Given the description of an element on the screen output the (x, y) to click on. 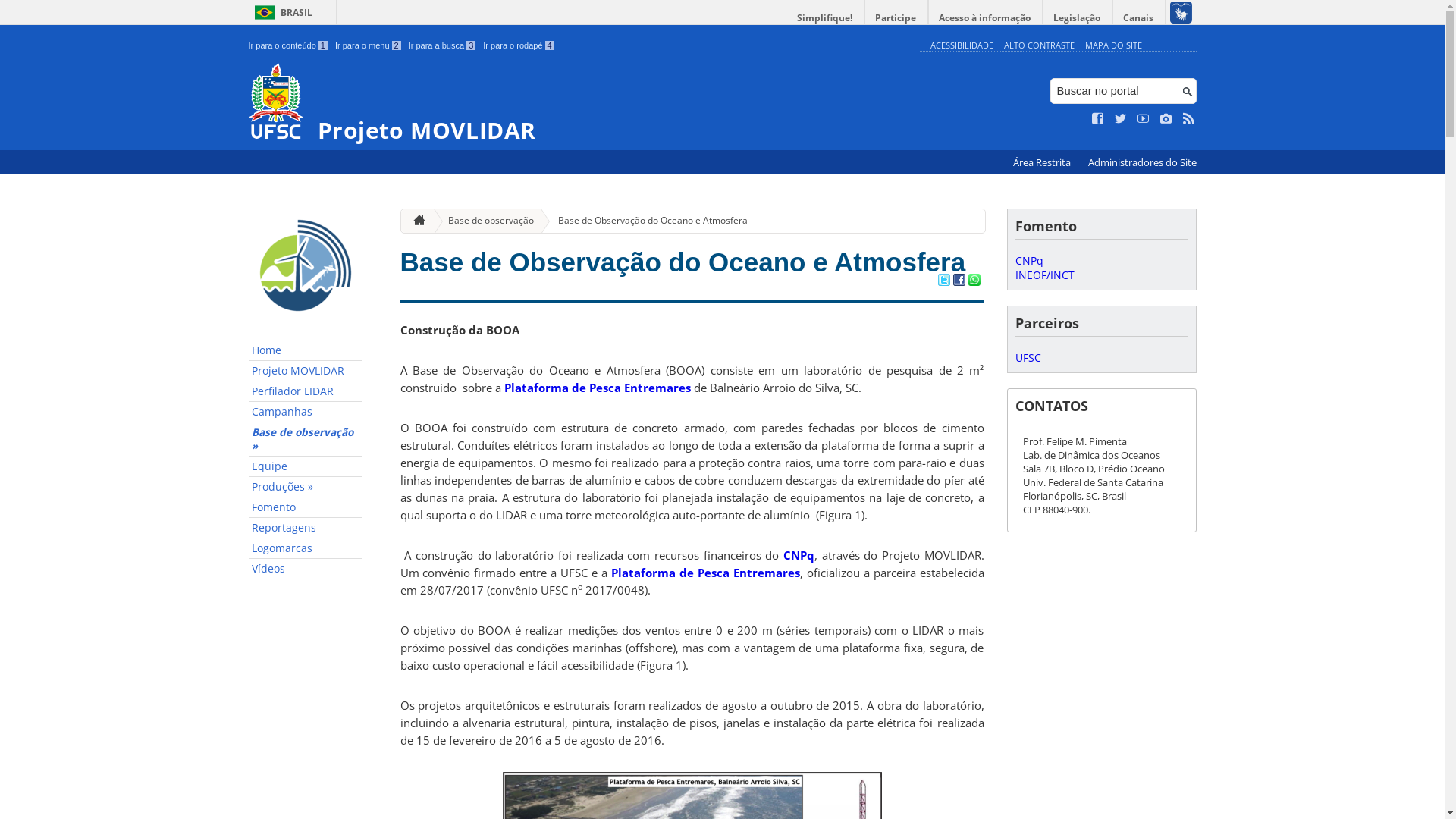
ACESSIBILIDADE Element type: text (960, 44)
Equipe Element type: text (305, 466)
Logomarcas Element type: text (305, 548)
Administradores do Site Element type: text (1141, 162)
Canais Element type: text (1138, 18)
Ir para a busca 3 Element type: text (442, 45)
Fomento Element type: text (305, 507)
Siga no Twitter Element type: hover (1120, 118)
Ir para o menu 2 Element type: text (368, 45)
Plataforma de Pesca Entremares Element type: text (705, 572)
Projeto MOVLIDAR Element type: text (305, 370)
Compartilhar no WhatsApp Element type: hover (973, 280)
CNPq Element type: text (798, 554)
Home Element type: text (305, 350)
INEOF/INCT Element type: text (1043, 274)
Reportagens Element type: text (305, 527)
Curta no Facebook Element type: hover (1098, 118)
Participe Element type: text (895, 18)
Perfilador LIDAR Element type: text (305, 391)
Veja no Instagram Element type: hover (1166, 118)
Compartilhar no Twitter Element type: hover (943, 280)
CNPq Element type: text (1028, 260)
Plataforma de Pesca Entremares Element type: text (596, 387)
Simplifique! Element type: text (825, 18)
Projeto MOVLIDAR Element type: text (580, 102)
UFSC Element type: text (1027, 357)
ALTO CONTRASTE Element type: text (1039, 44)
Compartilhar no Facebook Element type: hover (958, 280)
Campanhas Element type: text (305, 411)
MAPA DO SITE Element type: text (1112, 44)
BRASIL Element type: text (280, 12)
